Given the description of an element on the screen output the (x, y) to click on. 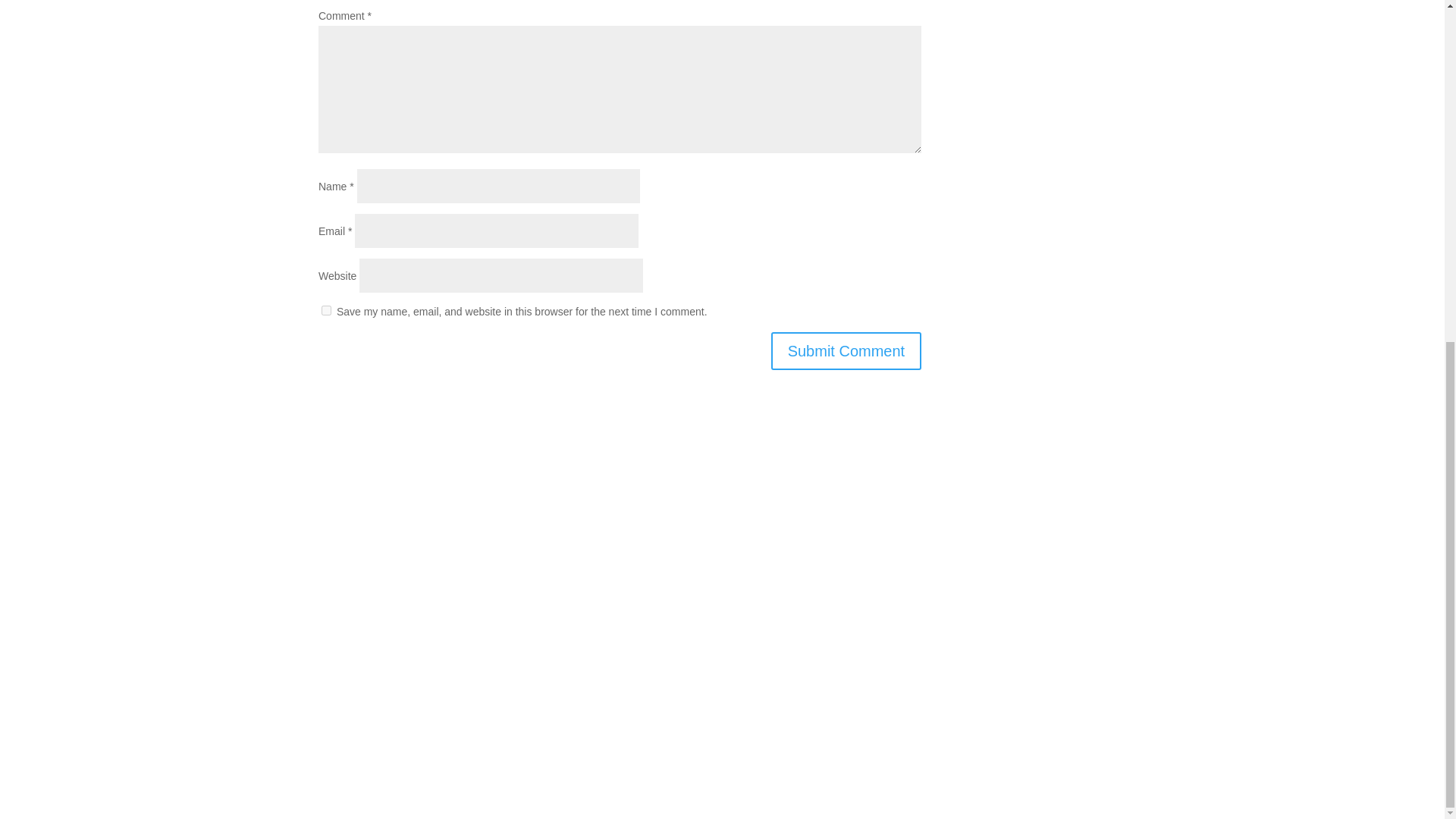
yes (326, 310)
Submit Comment (846, 351)
Submit Comment (846, 351)
